Given the description of an element on the screen output the (x, y) to click on. 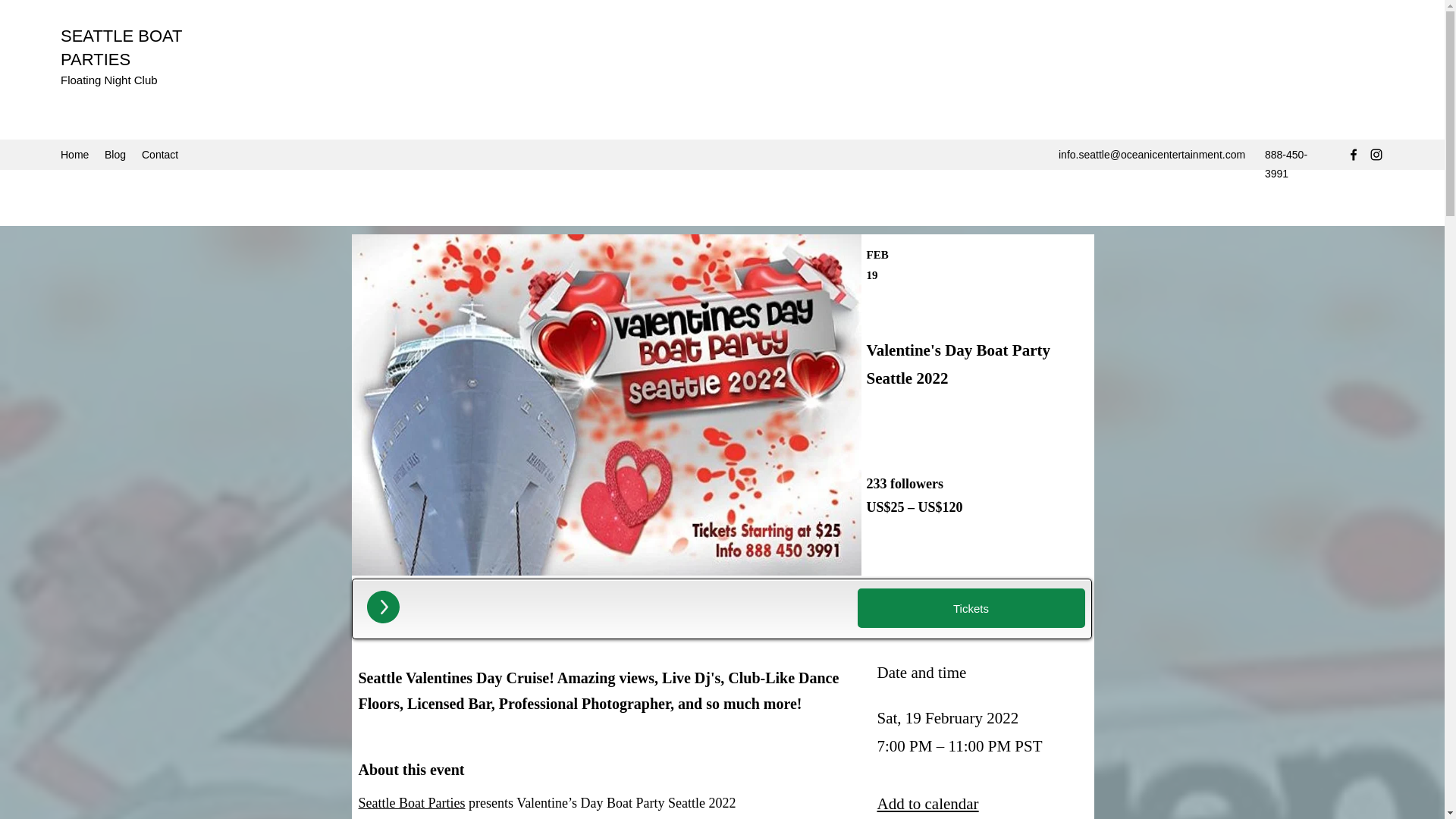
Blog (115, 154)
Seattle Boat Parties (411, 802)
Contact (160, 154)
Home (74, 154)
Add to calendar (927, 803)
SEATTLE BOAT PARTIES (121, 47)
Tickets (970, 608)
